Given the description of an element on the screen output the (x, y) to click on. 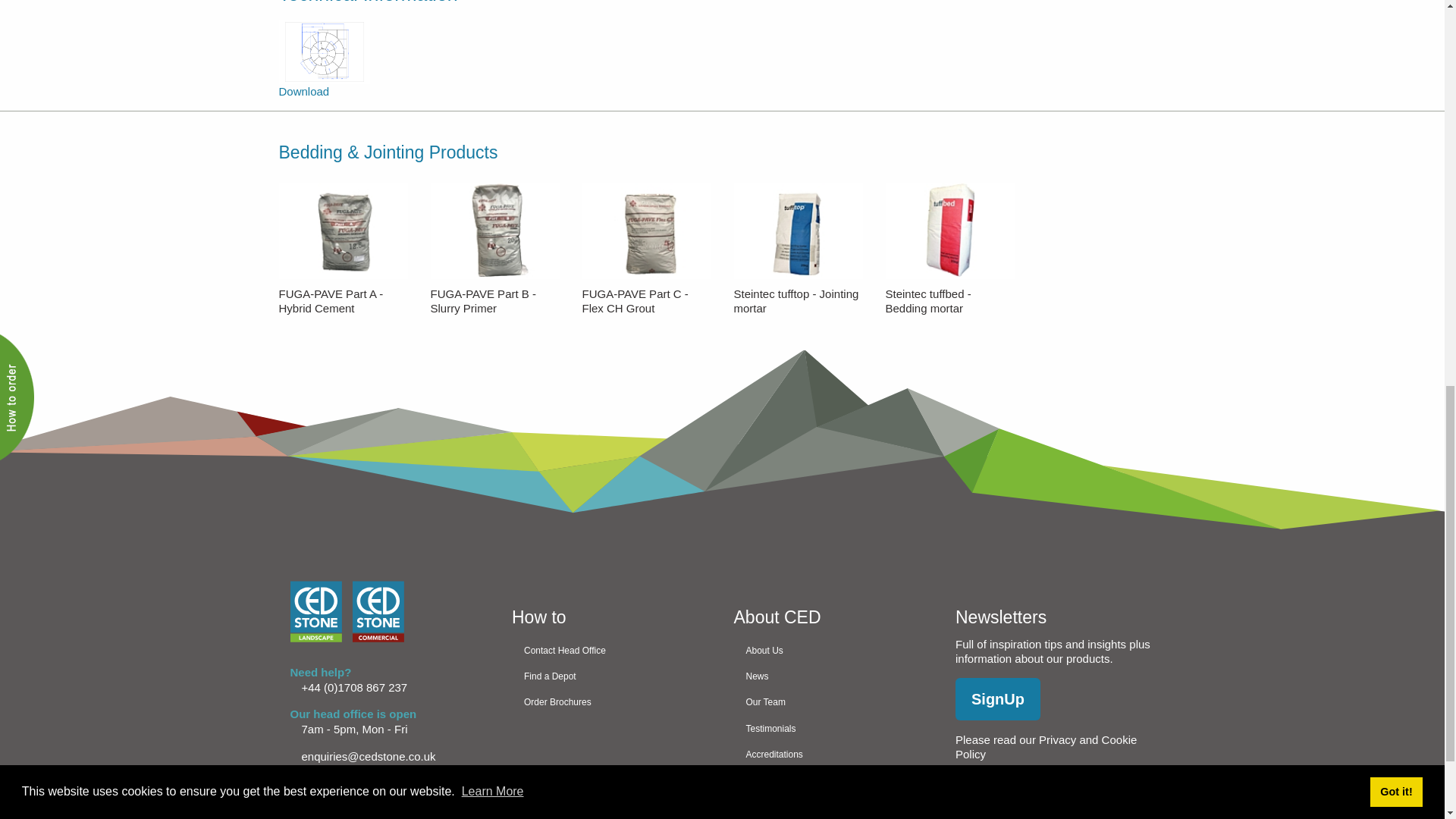
Head Office (611, 649)
Head Office (833, 701)
Head Office (833, 806)
subscribe to CED Stone newsletter (998, 699)
Head Office (833, 649)
Head Office (611, 676)
Beige Sandstone Circle PDF download (324, 71)
Head Office (833, 728)
Head Office (833, 754)
Head Office (833, 780)
Head Office (833, 676)
Head Office (611, 701)
